Given the description of an element on the screen output the (x, y) to click on. 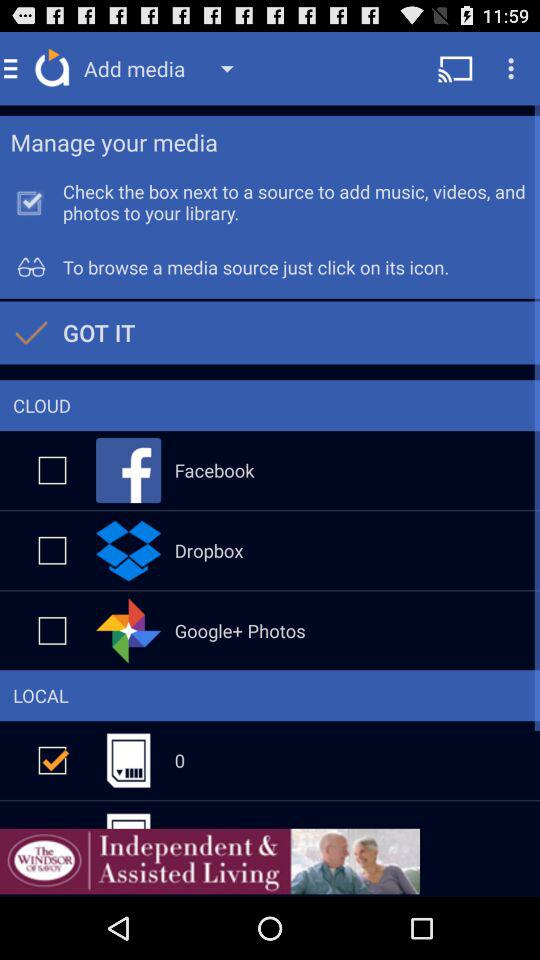
select dropbox (52, 550)
